Given the description of an element on the screen output the (x, y) to click on. 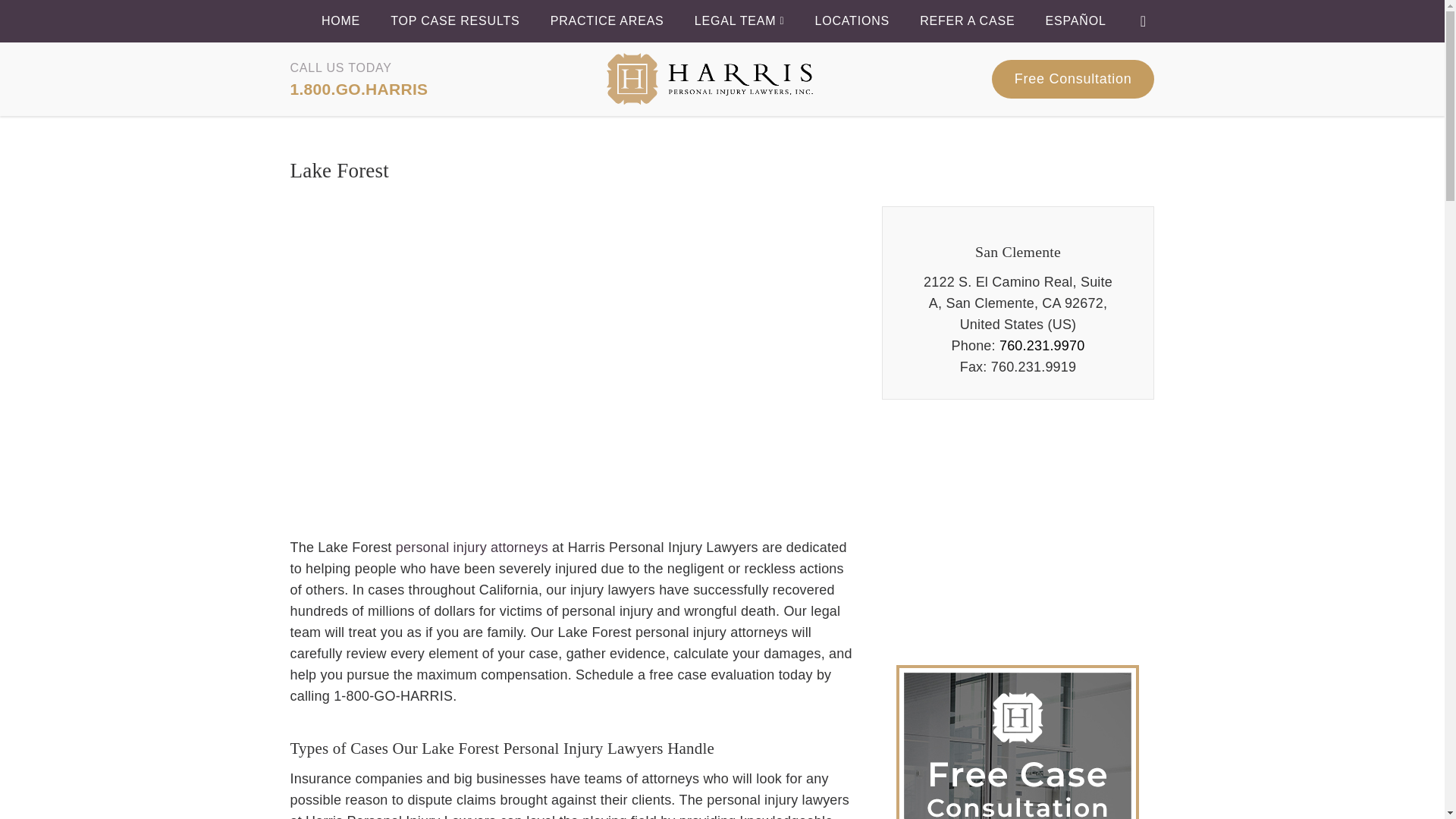
LOCATIONS (850, 20)
LEGAL TEAM (739, 20)
TOP CASE RESULTS (454, 20)
HOME (340, 20)
REFER A CASE (967, 20)
Free Consultation (1072, 78)
1.800.GO.HARRIS (358, 88)
personal injury attorneys (472, 547)
PRACTICE AREAS (606, 20)
